Given the description of an element on the screen output the (x, y) to click on. 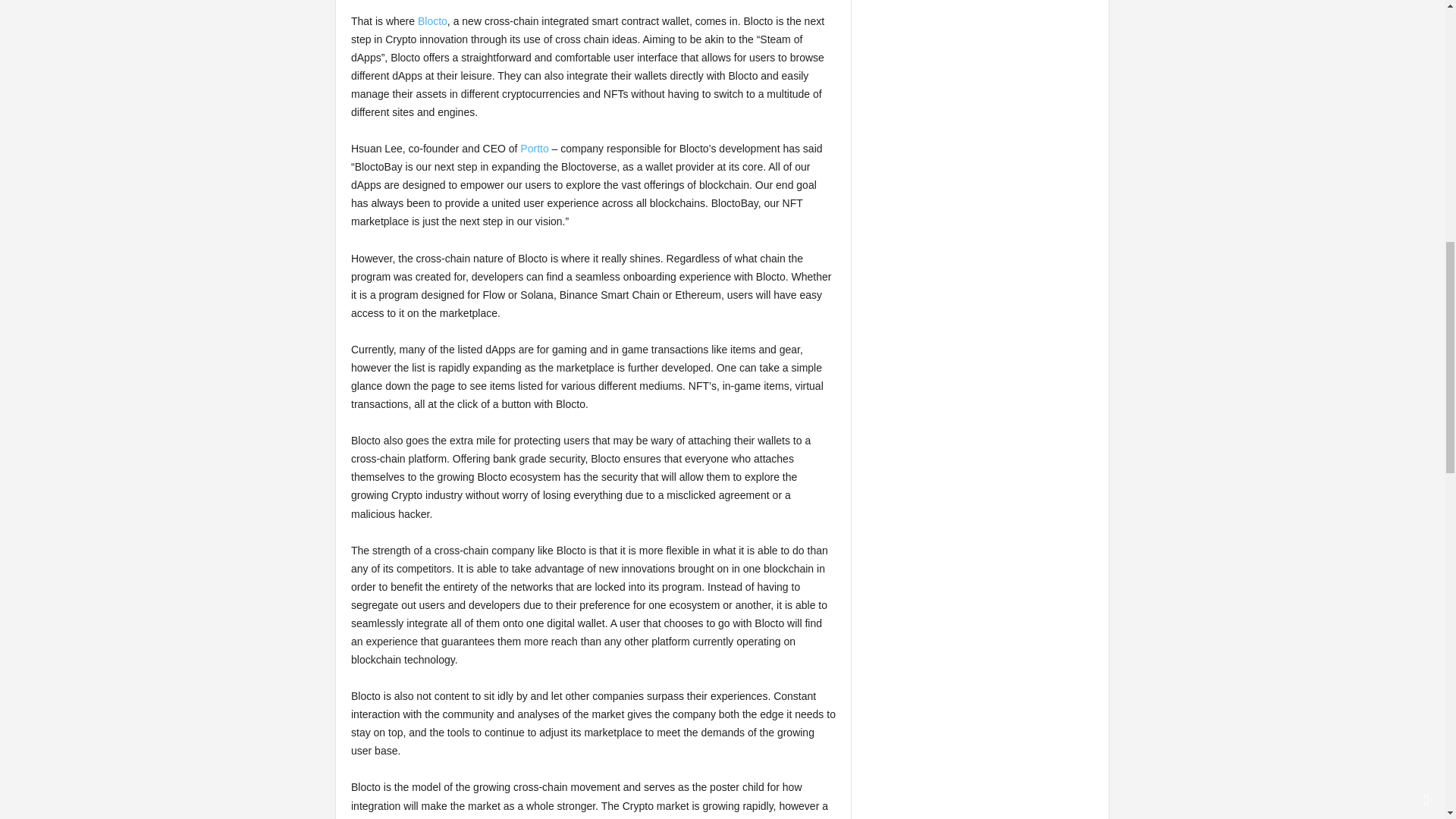
Portto (533, 148)
Blocto (431, 21)
